Given the description of an element on the screen output the (x, y) to click on. 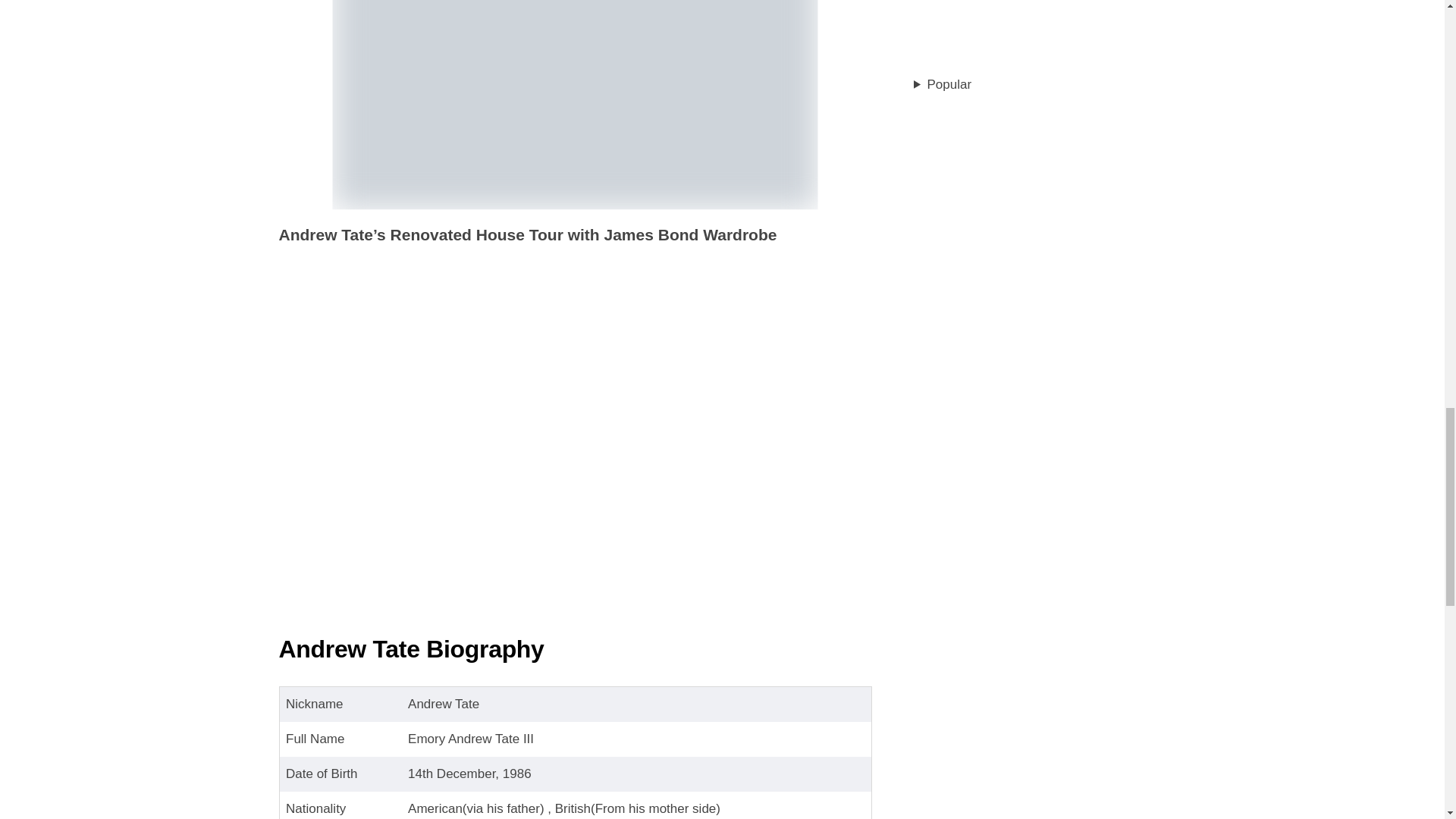
Andrew Tate House 2 (573, 104)
